Given the description of an element on the screen output the (x, y) to click on. 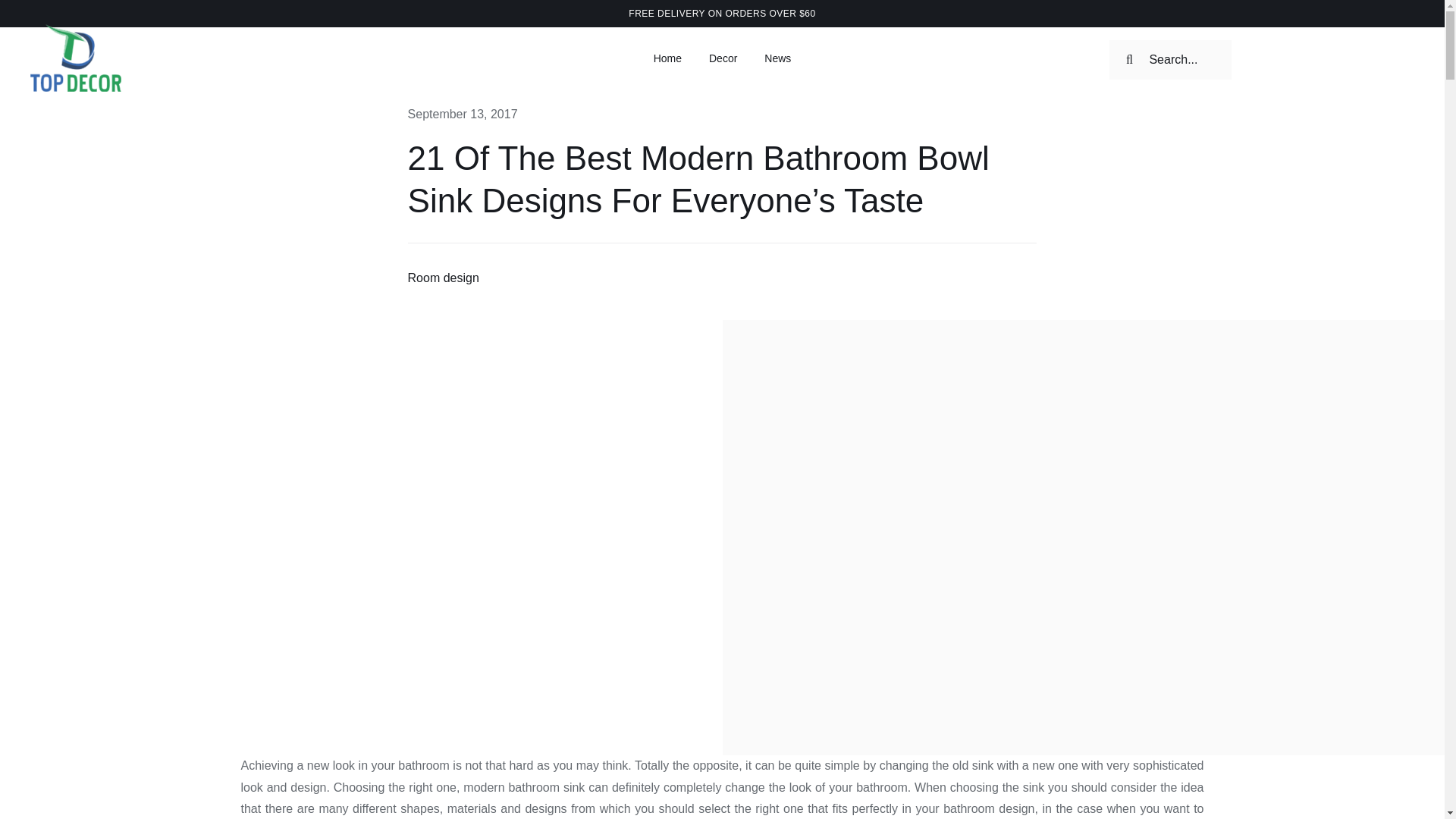
Room design (443, 277)
Room design (443, 277)
